Given the description of an element on the screen output the (x, y) to click on. 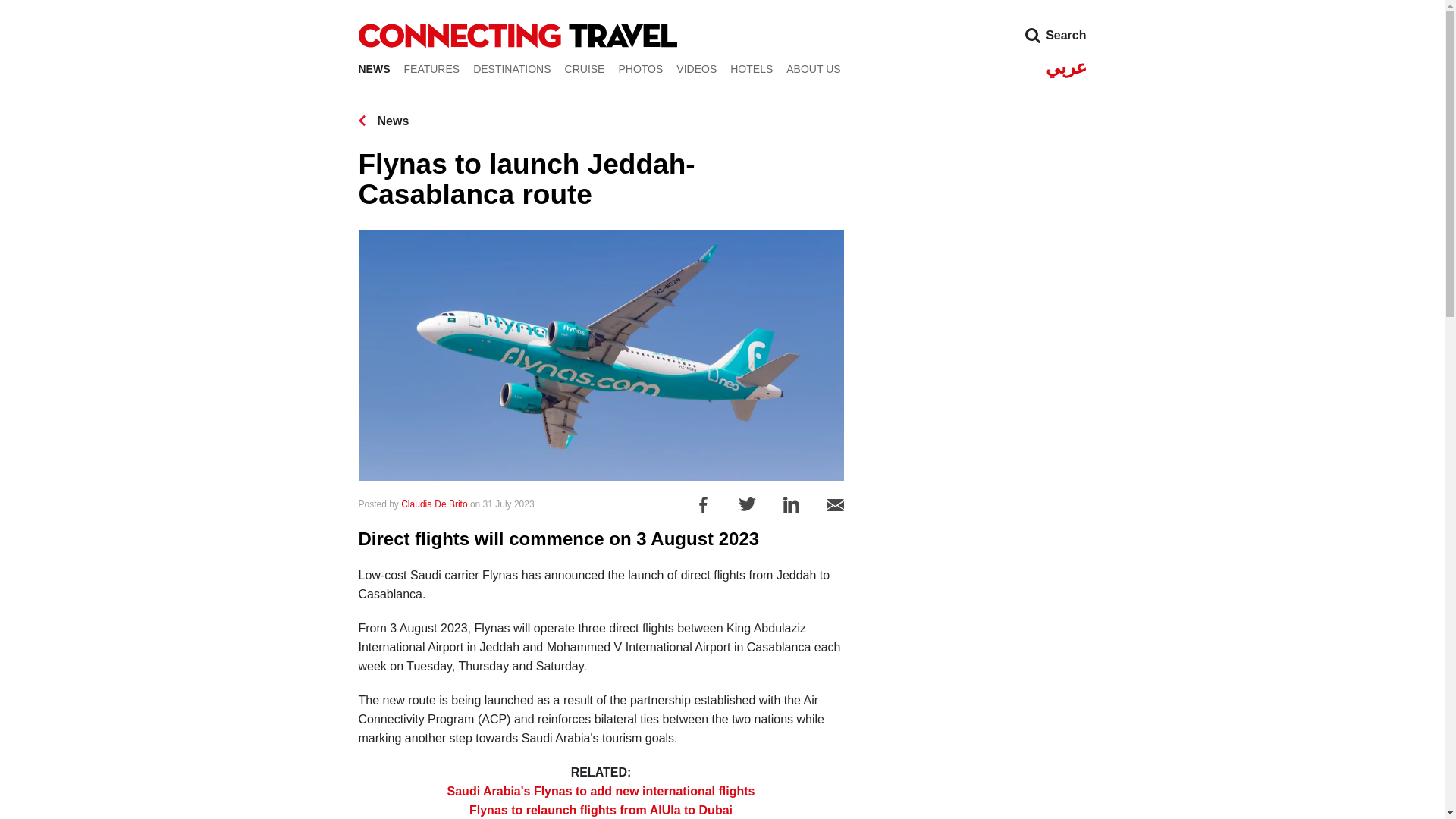
NEWS (374, 68)
Share on Twitter (746, 504)
DESTINATIONS (511, 68)
Search (1032, 35)
Hotels (751, 68)
CRUISE (584, 68)
VIDEOS (696, 68)
PHOTOS (639, 68)
Share on LinkedIn (791, 503)
